Given the description of an element on the screen output the (x, y) to click on. 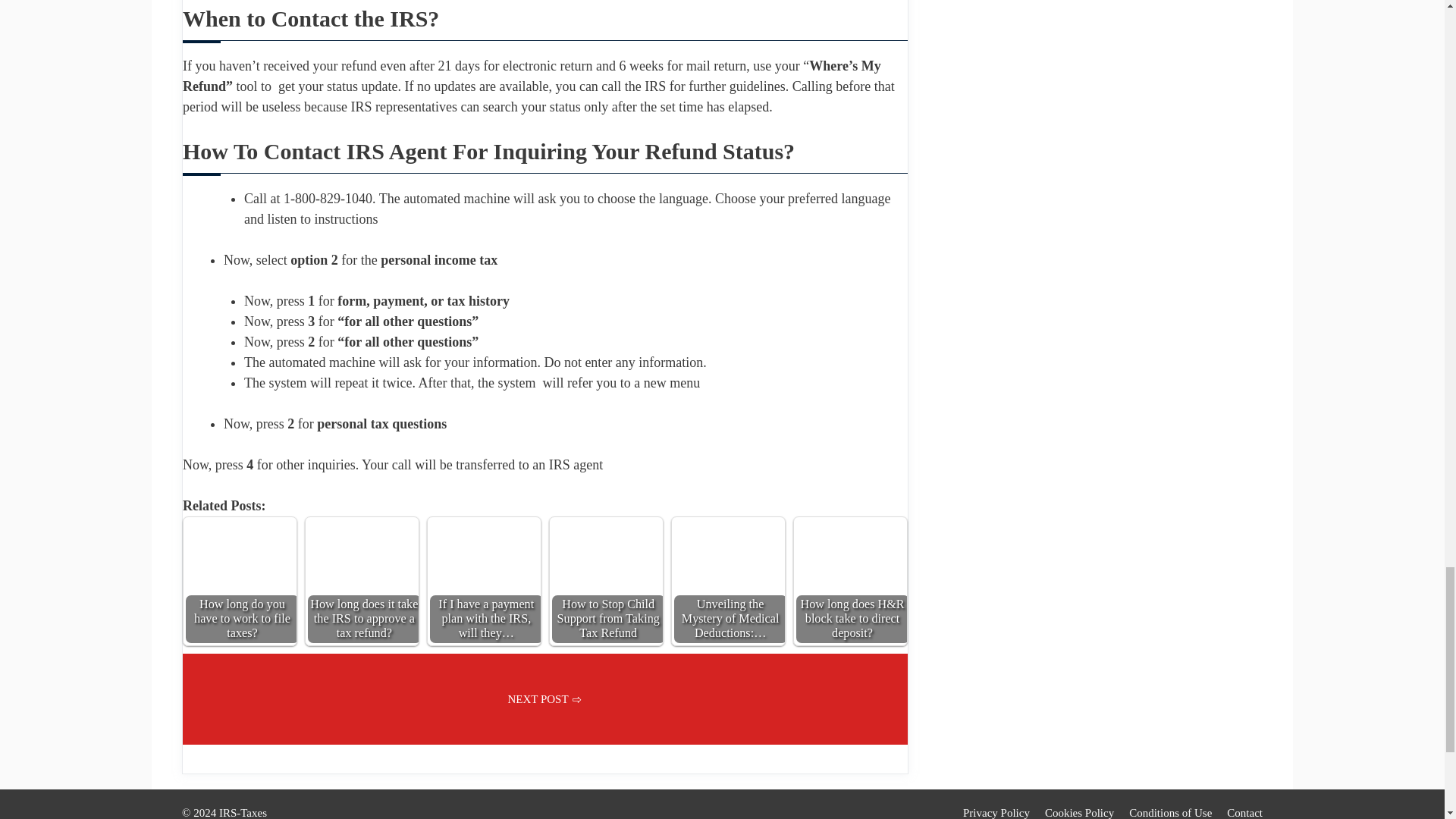
How long do you have to work to file taxes? (240, 573)
How to Stop Child Support from Taking Tax Refund (606, 573)
Cookies Policy (1079, 812)
Privacy Policy (995, 812)
How long does it take the IRS to approve a tax refund? (361, 573)
Contact (1244, 812)
Conditions of Use (1170, 812)
